Given the description of an element on the screen output the (x, y) to click on. 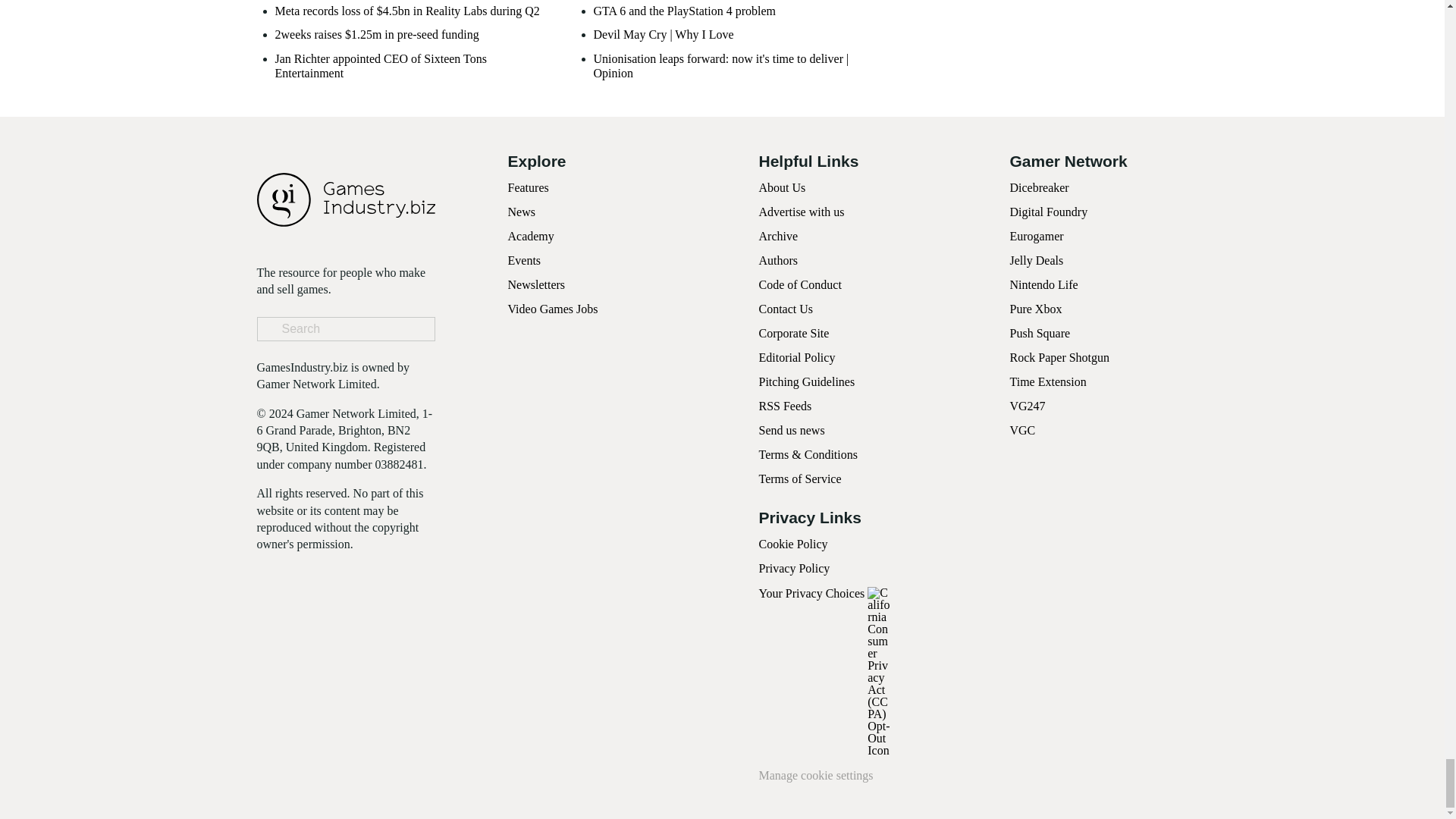
Academy (531, 236)
Features (528, 187)
Authors (777, 259)
Events (524, 259)
Advertise with us (801, 211)
News (521, 211)
Newsletters (537, 284)
Archive (777, 236)
About Us (781, 187)
Video Games Jobs (553, 308)
